Given the description of an element on the screen output the (x, y) to click on. 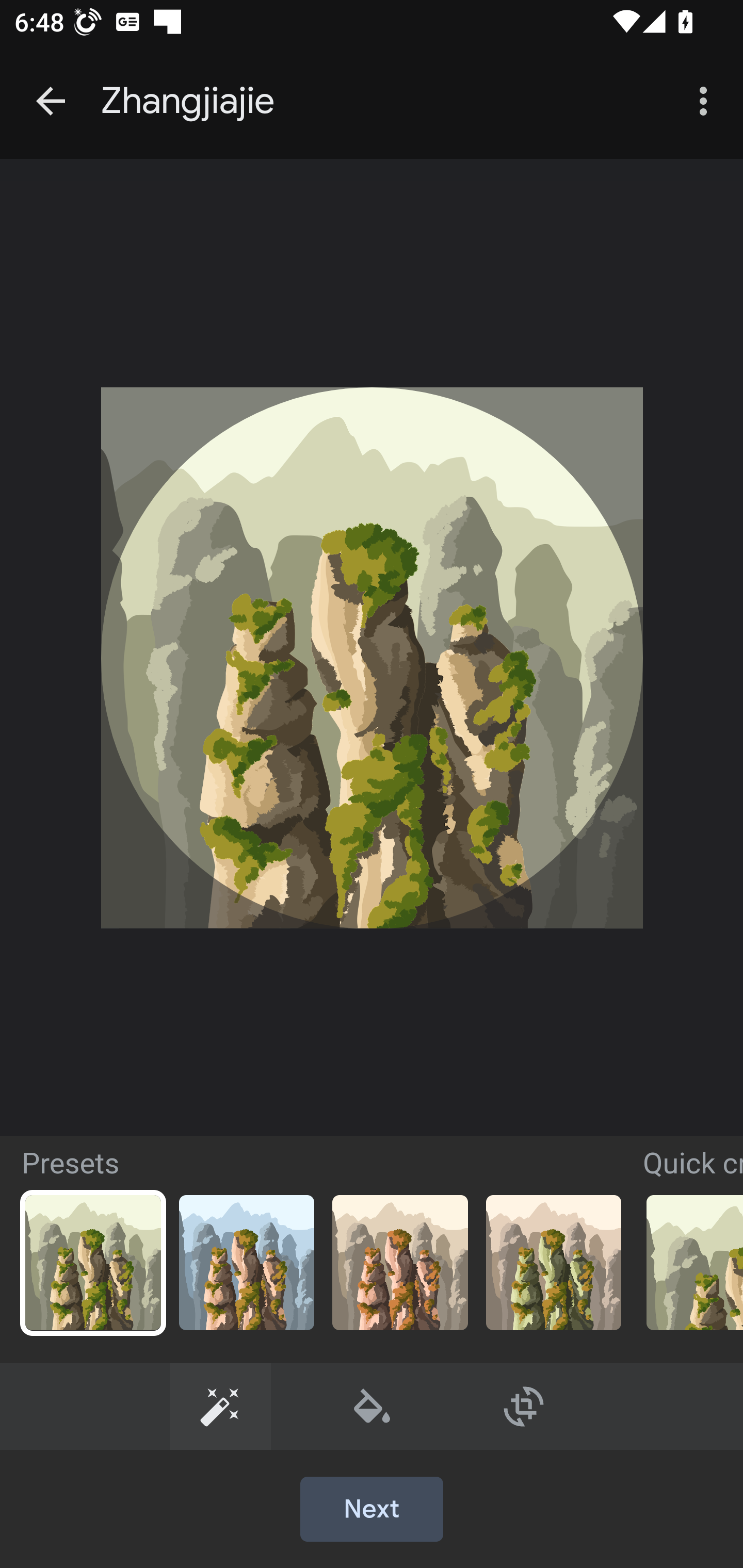
Navigate up (50, 101)
More options (706, 101)
Presets (220, 1406)
Colorize (372, 1406)
Crop (523, 1406)
Next (371, 1509)
